Given the description of an element on the screen output the (x, y) to click on. 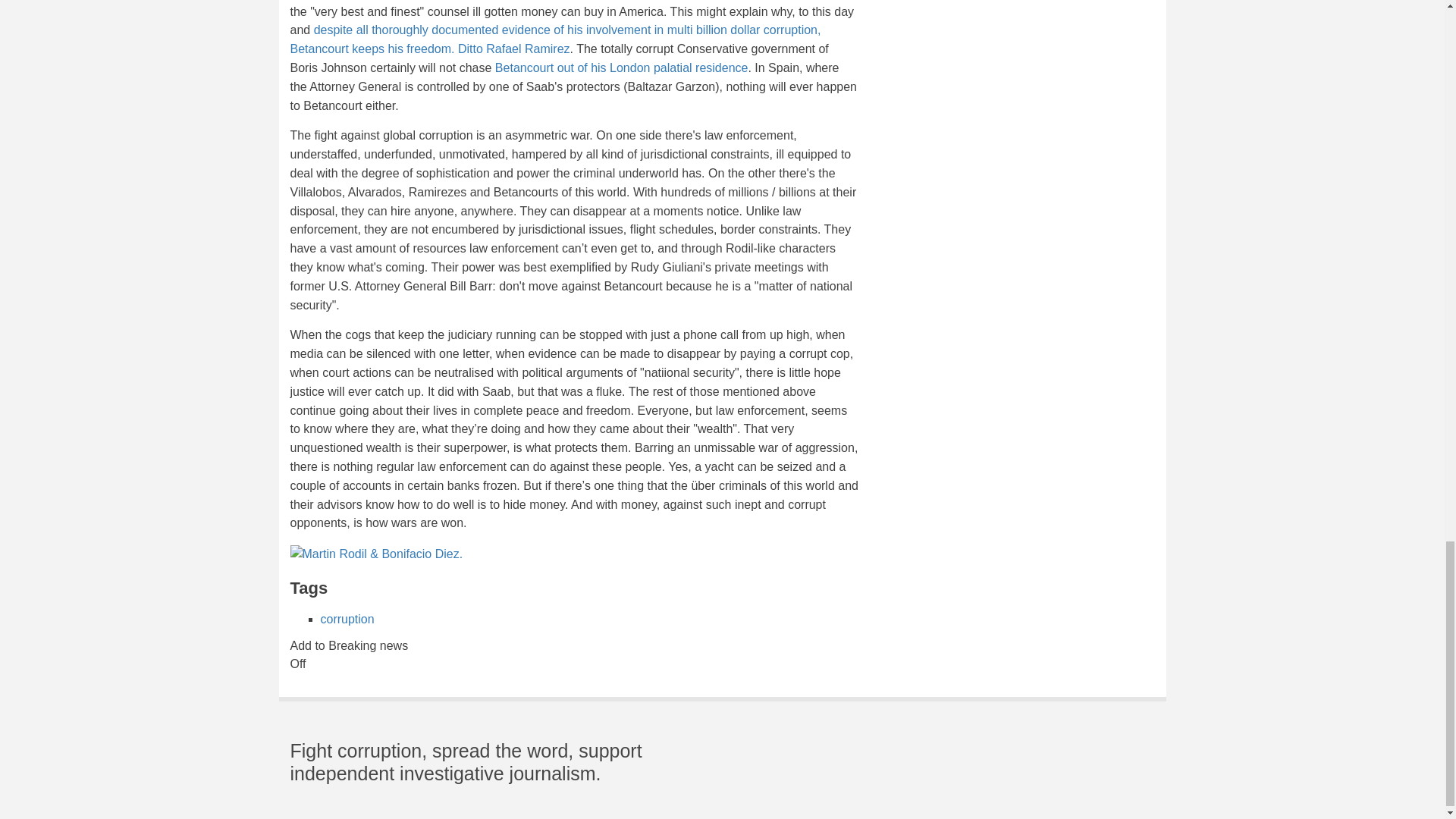
corruption (347, 618)
Betancourt out of his London palatial residence (621, 67)
